Given the description of an element on the screen output the (x, y) to click on. 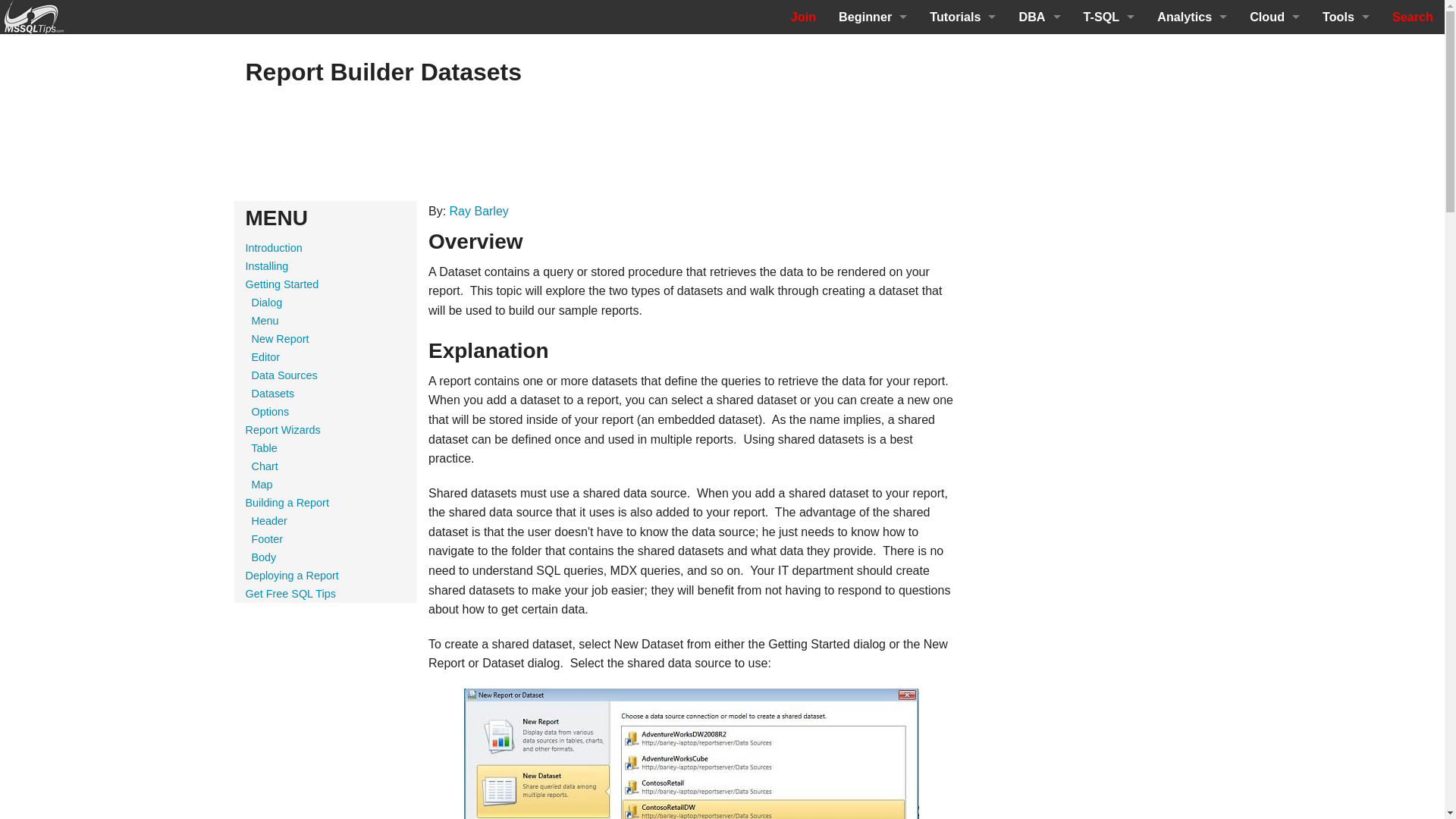
Reporting Services (962, 221)
SQL Server 101 (962, 50)
Webinars (872, 255)
DBA (1039, 17)
Join (802, 17)
Backup (1039, 289)
SQL Server Concepts (872, 119)
SQL Server 101 (872, 84)
All Categories (1039, 426)
Database Administration (1039, 50)
Performance Tuning (1039, 84)
author profile for Ray Barley (478, 210)
All Tutorials (962, 255)
Availability Groups (1039, 358)
PowerShell (1039, 187)
